Given the description of an element on the screen output the (x, y) to click on. 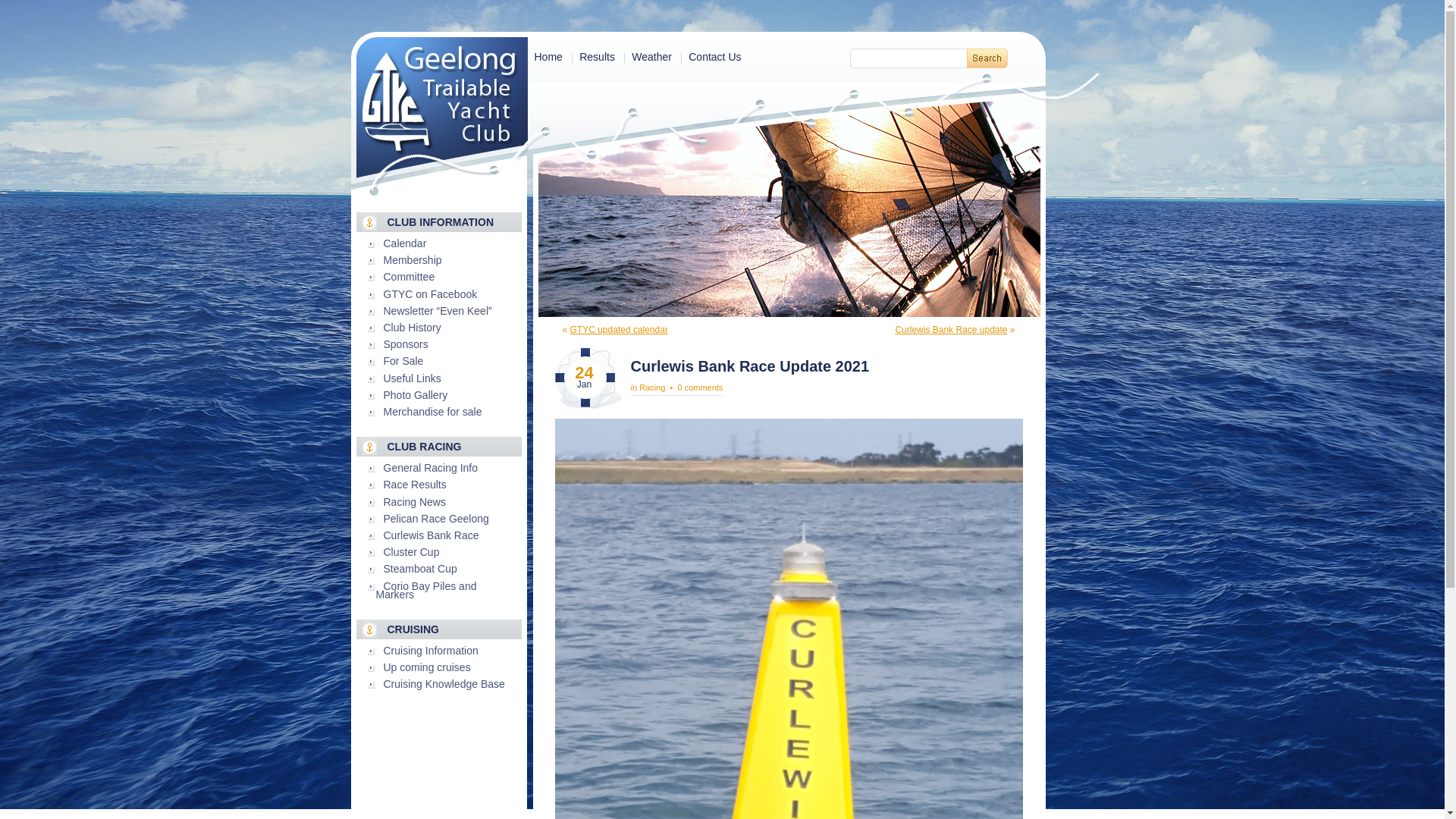
Curlewis Bank Race Update 2021 Element type: text (749, 365)
Merchandise for sale Element type: text (432, 411)
Geelong Trailable Yacht Club Element type: text (441, 107)
Cruising Knowledge Base Element type: text (444, 683)
Sponsors Element type: text (406, 344)
Weather Element type: text (651, 56)
Curlewis Bank Race update Element type: text (950, 329)
Curlewis Bank Race Element type: text (431, 535)
Pelican Race Geelong Element type: text (436, 518)
Racing News Element type: text (414, 501)
For Sale Element type: text (403, 360)
Steamboat Cup Element type: text (420, 568)
Up coming cruises Element type: text (427, 667)
Racing Element type: text (652, 387)
Committee Element type: text (409, 276)
Results Element type: text (596, 56)
Cruising Information Element type: text (431, 650)
Photo Gallery Element type: text (415, 395)
Useful Links Element type: text (412, 378)
Corio Bay Piles and Markers Element type: text (426, 590)
Contact Us Element type: text (714, 56)
Home Element type: text (547, 56)
GTYC updated calendar Element type: text (619, 329)
General Racing Info Element type: text (431, 467)
Cluster Cup Element type: text (411, 552)
0 comments Element type: text (699, 387)
Race Results Element type: text (415, 484)
Club History Element type: text (412, 327)
Calendar Element type: text (405, 243)
Membership Element type: text (412, 260)
GTYC on Facebook Element type: text (430, 294)
